Given the description of an element on the screen output the (x, y) to click on. 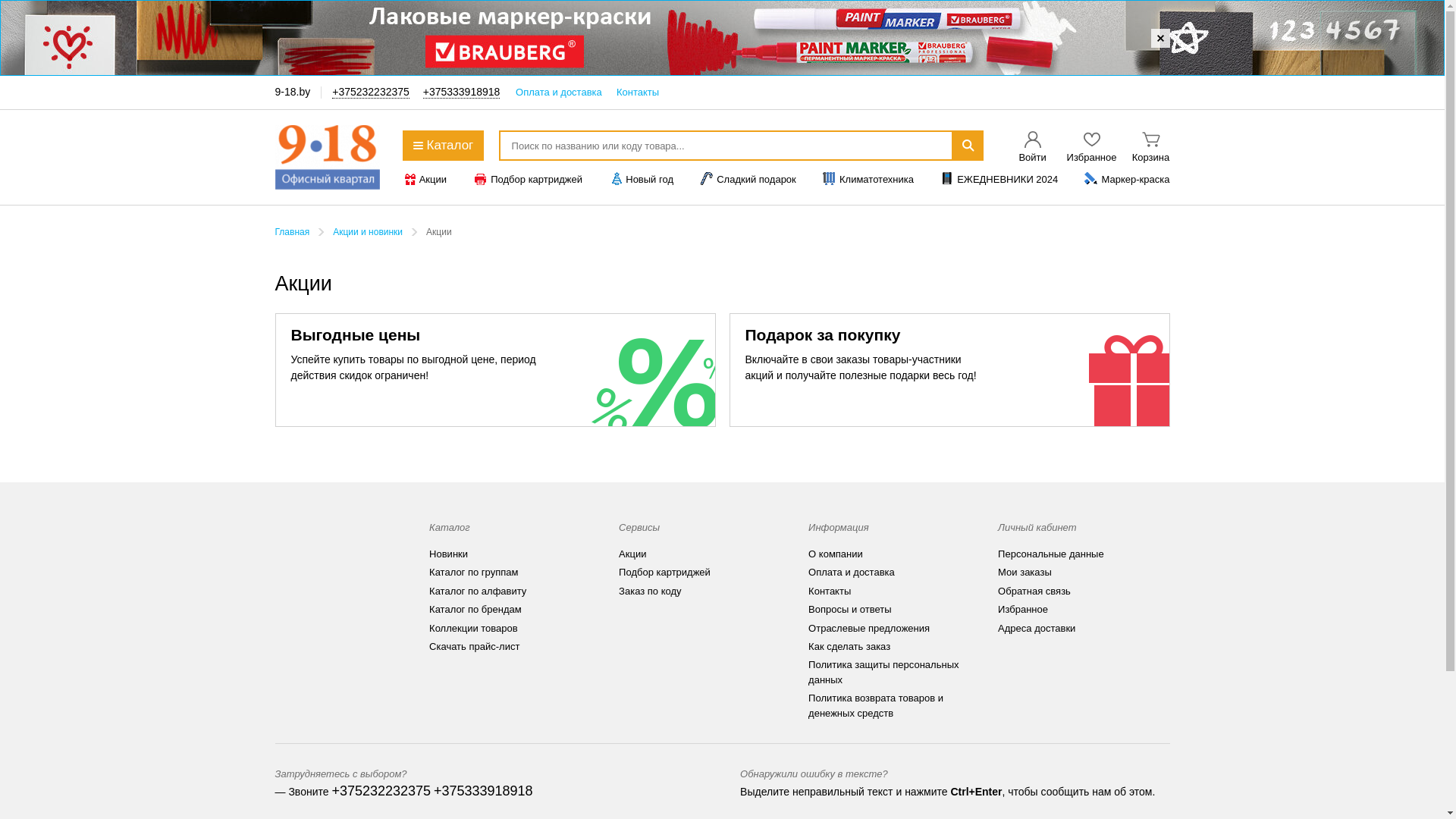
+375232232375 Element type: text (370, 91)
+375232232375 Element type: text (380, 791)
+375333918918 Element type: text (461, 91)
+375333918918 Element type: text (483, 791)
